Given the description of an element on the screen output the (x, y) to click on. 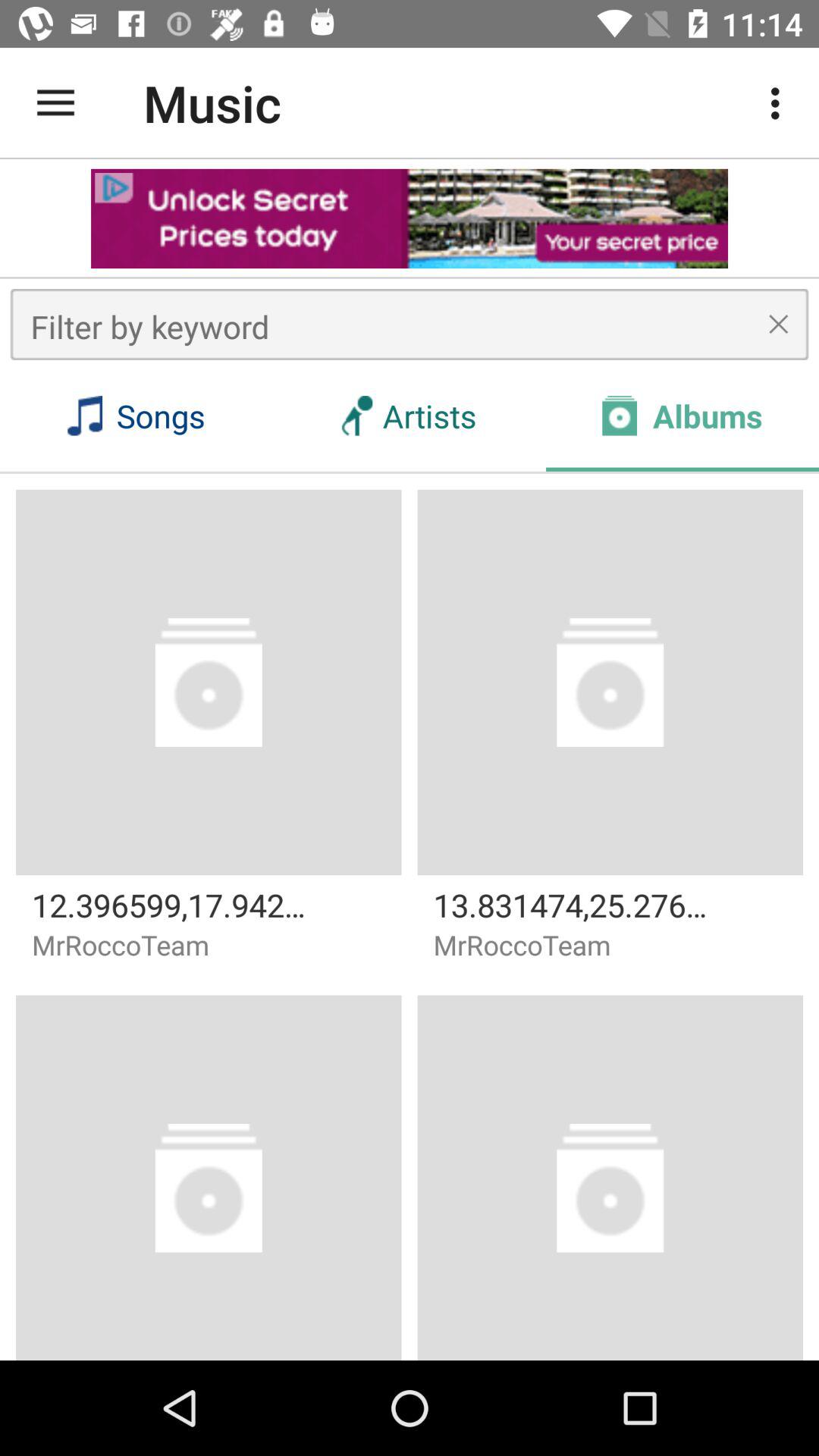
keyword search (409, 324)
